Given the description of an element on the screen output the (x, y) to click on. 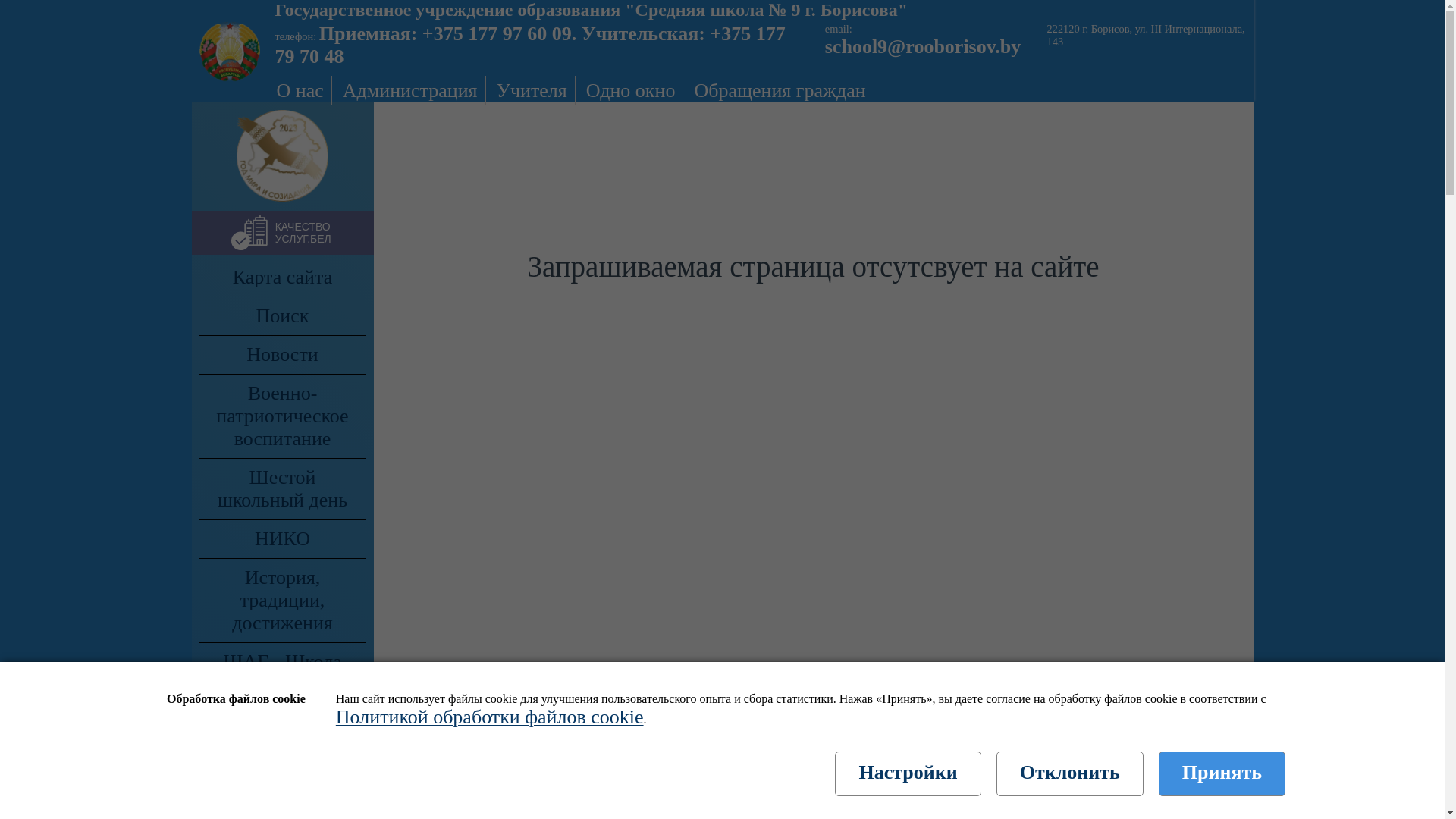
school9@rooborisov.by Element type: text (922, 46)
